Given the description of an element on the screen output the (x, y) to click on. 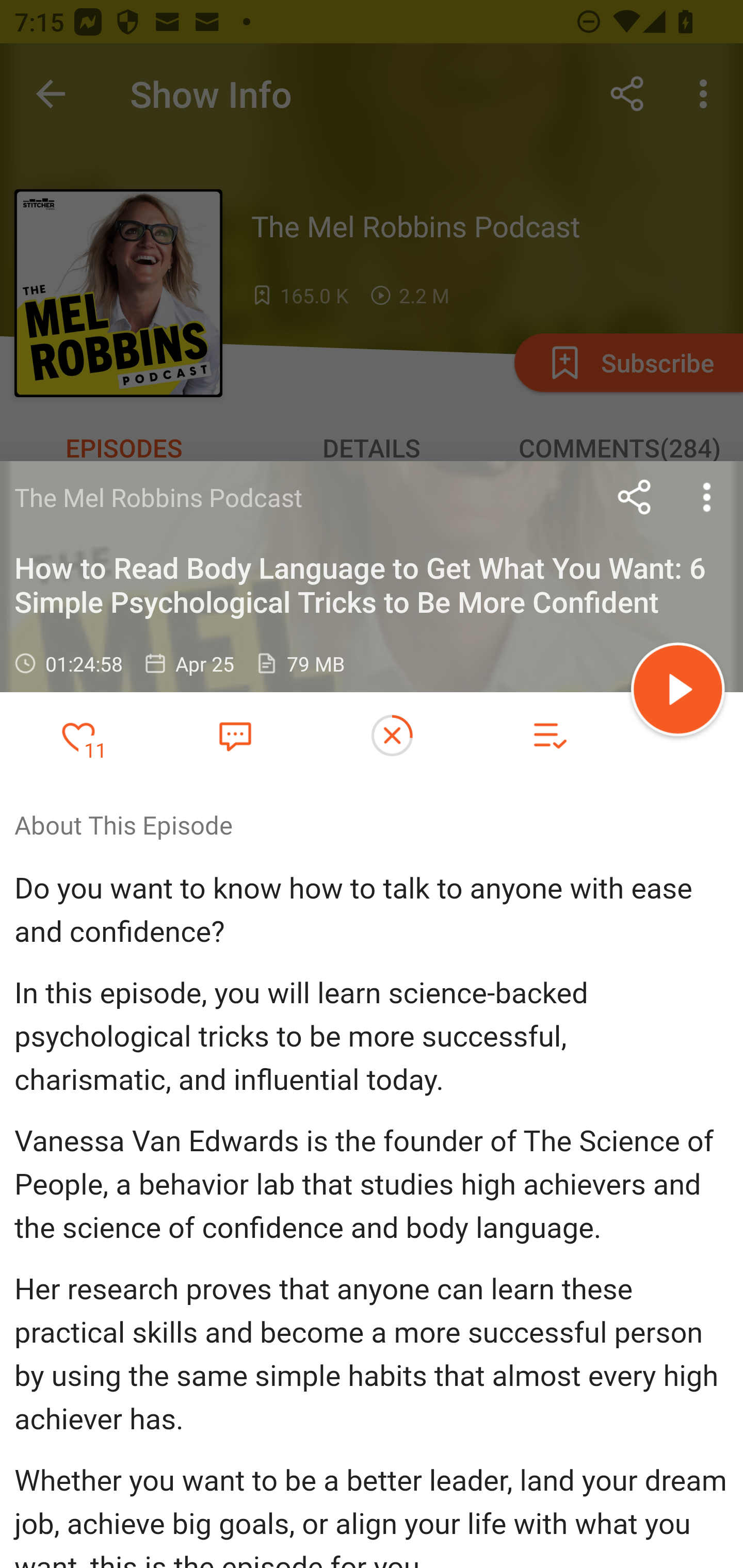
Share (634, 496)
more options (706, 496)
Play (677, 692)
Favorite (234, 735)
Add to Favorites (78, 735)
Cancel Downloading (391, 735)
Add to playlist (548, 735)
